Given the description of an element on the screen output the (x, y) to click on. 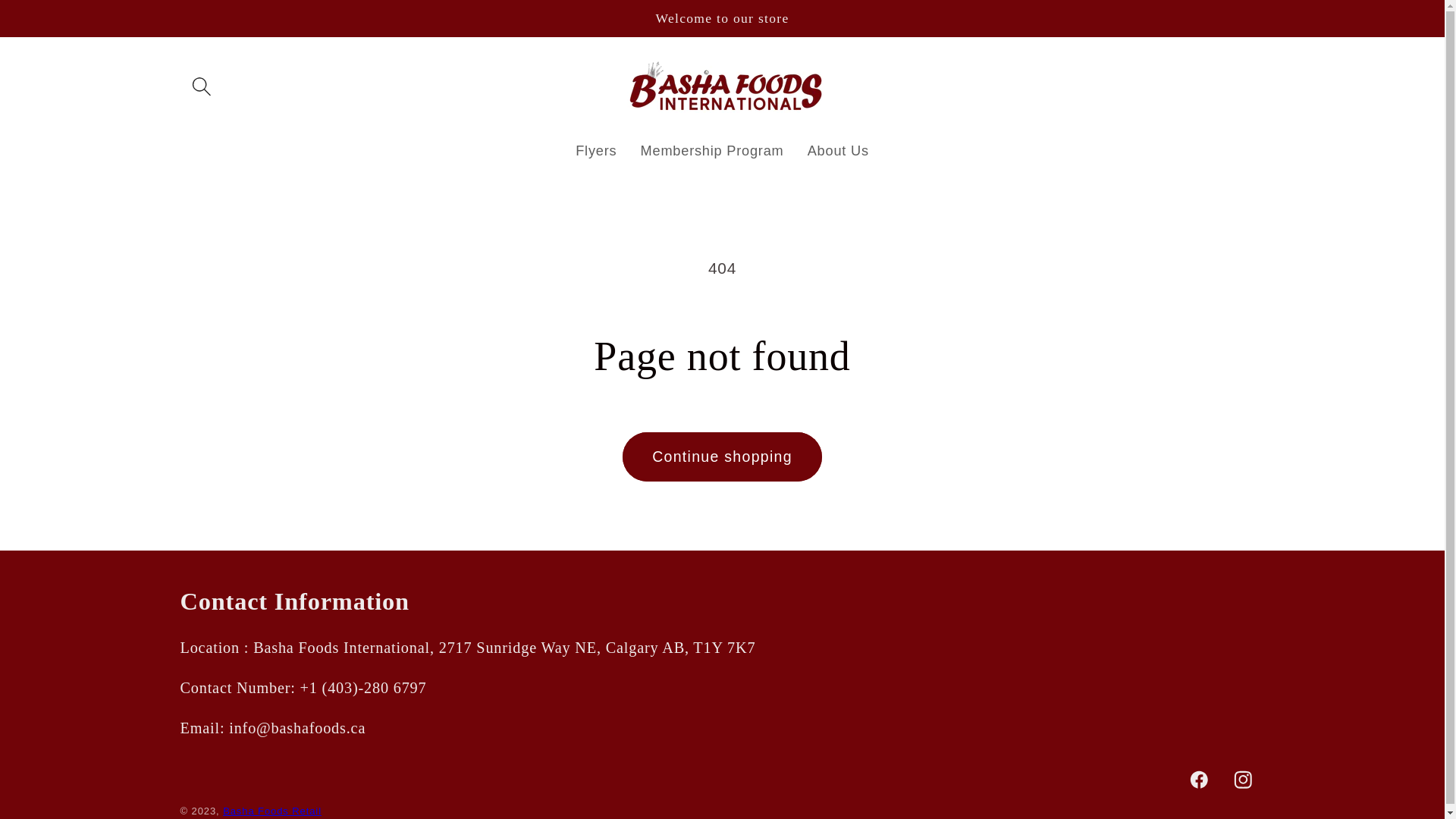
Basha Foods Retail Element type: text (271, 810)
Instagram Element type: text (1242, 778)
About Us Element type: text (837, 151)
Facebook Element type: text (1198, 778)
Membership Program Element type: text (711, 151)
Flyers Element type: text (596, 151)
Continue shopping Element type: text (722, 456)
